Given the description of an element on the screen output the (x, y) to click on. 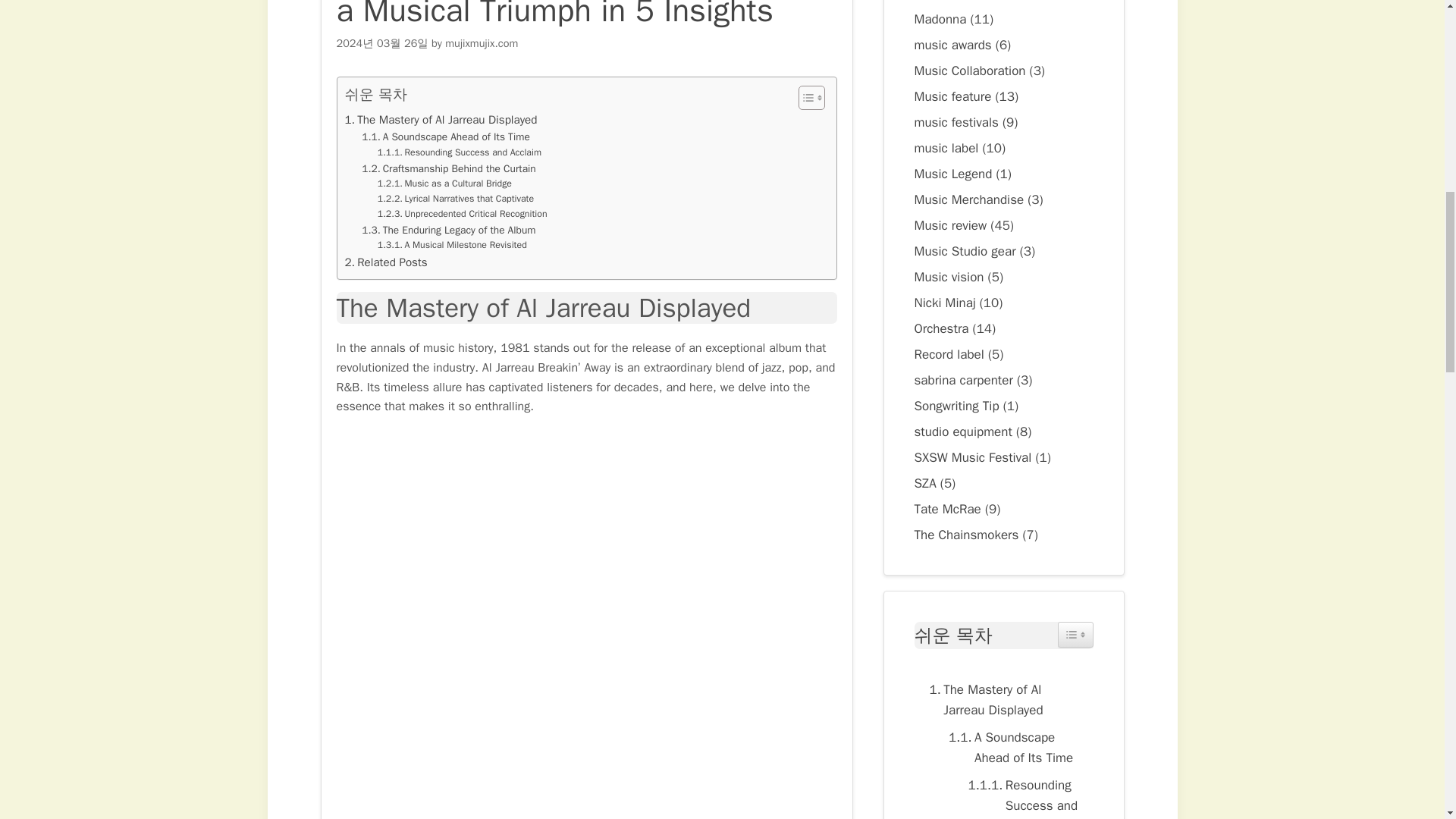
A Soundscape Ahead of Its Time (1013, 747)
Related Posts (384, 262)
Resounding Success and Acclaim (459, 152)
Craftsmanship Behind the Curtain (448, 168)
A Musical Milestone Revisited (452, 245)
Lyrical Narratives that Captivate (455, 199)
The Mastery of Al Jarreau Displayed (1003, 699)
A Soundscape Ahead of Its Time (445, 136)
Lyrical Narratives that Captivate (455, 199)
Unprecedented Critical Recognition (462, 214)
Resounding Success and Acclaim (1021, 796)
View all posts by mujixmujix.com (481, 42)
The Enduring Legacy of the Album (448, 230)
Related Posts (384, 262)
The Mastery of Al Jarreau Displayed (440, 119)
